Given the description of an element on the screen output the (x, y) to click on. 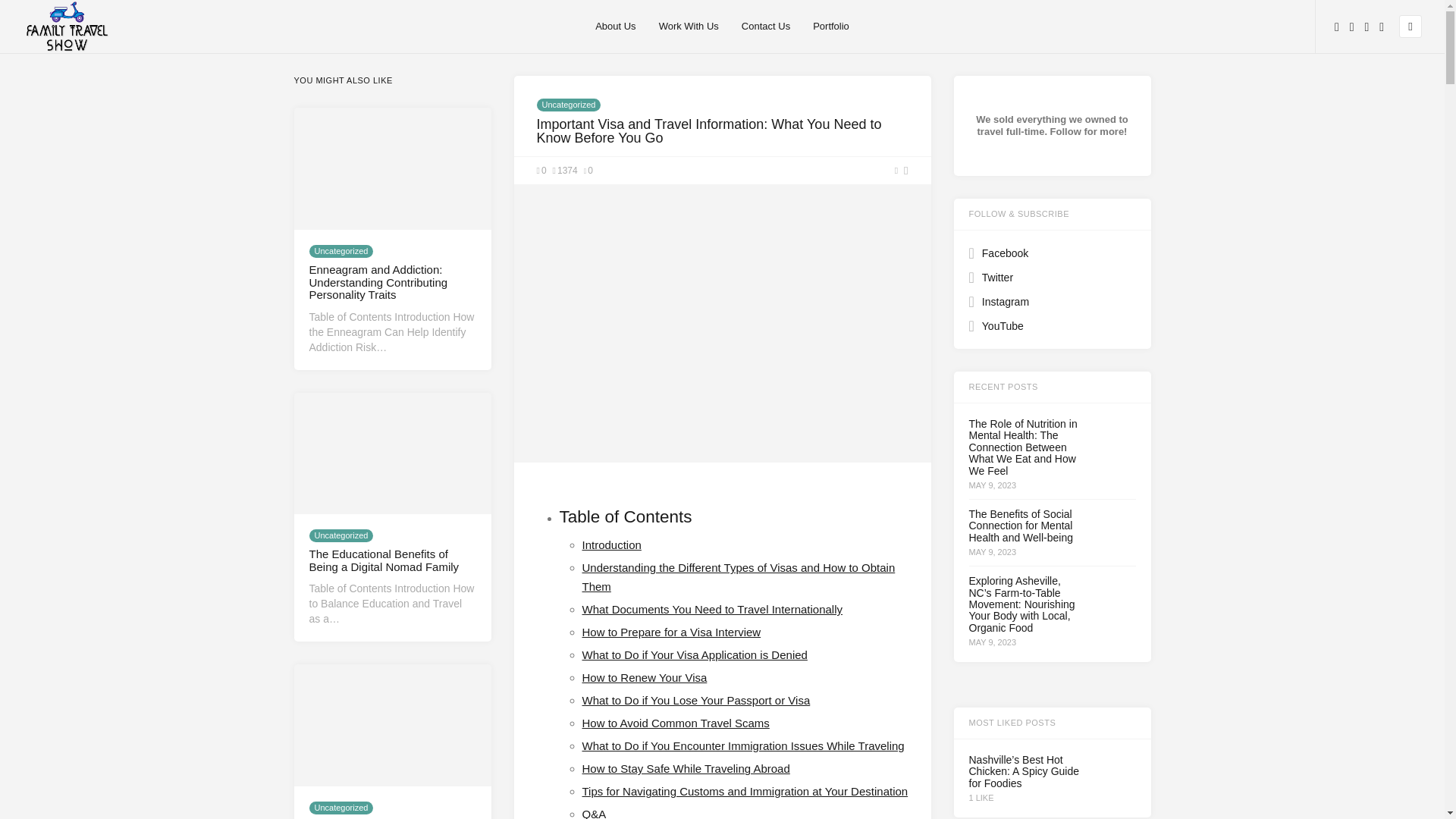
0 (587, 170)
How to Renew Your Visa (644, 676)
Work With Us (689, 26)
What Documents You Need to Travel Internationally (712, 608)
Contact Us (765, 26)
Uncategorized (341, 250)
0 (542, 170)
How to Stay Safe While Traveling Abroad (686, 768)
